Given the description of an element on the screen output the (x, y) to click on. 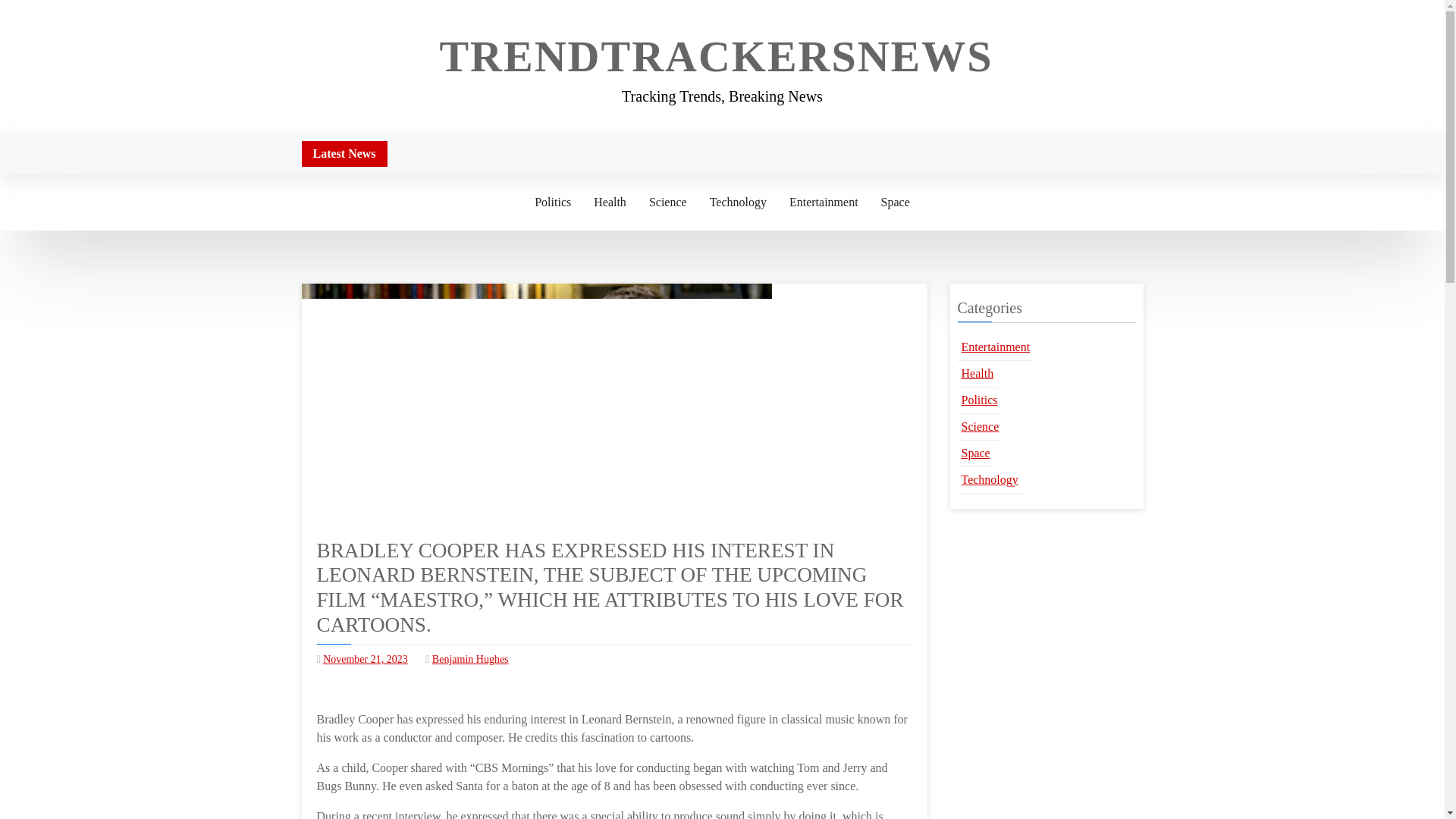
Politics (552, 201)
Entertainment (994, 347)
November 21, 2023 (365, 659)
TRENDTRACKERSNEWS (715, 56)
Health (976, 374)
Science (667, 201)
Benjamin Hughes (470, 659)
Technology (737, 201)
Politics (978, 400)
Health (609, 201)
